Given the description of an element on the screen output the (x, y) to click on. 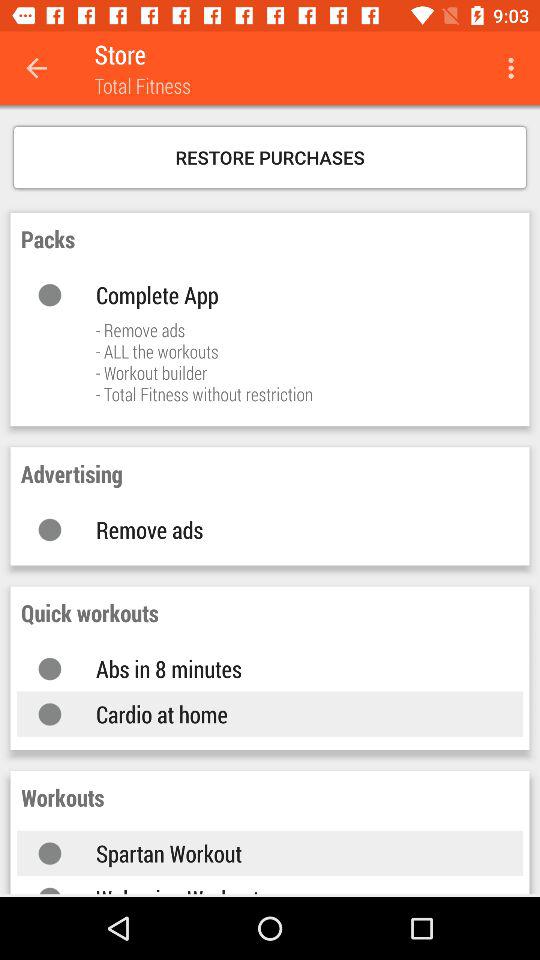
select icon below spartan workout (289, 889)
